Given the description of an element on the screen output the (x, y) to click on. 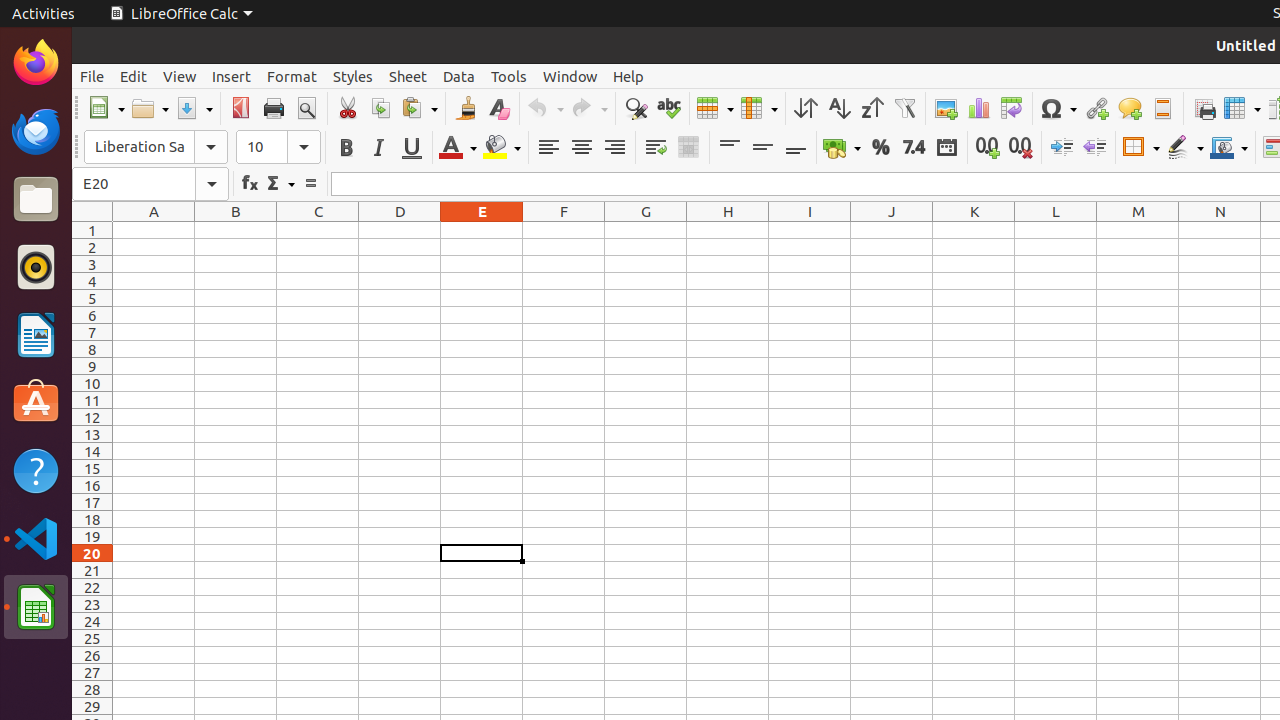
L1 Element type: table-cell (1056, 230)
Border Style Element type: push-button (1185, 147)
Align Bottom Element type: push-button (795, 147)
C1 Element type: table-cell (318, 230)
D1 Element type: table-cell (400, 230)
